Given the description of an element on the screen output the (x, y) to click on. 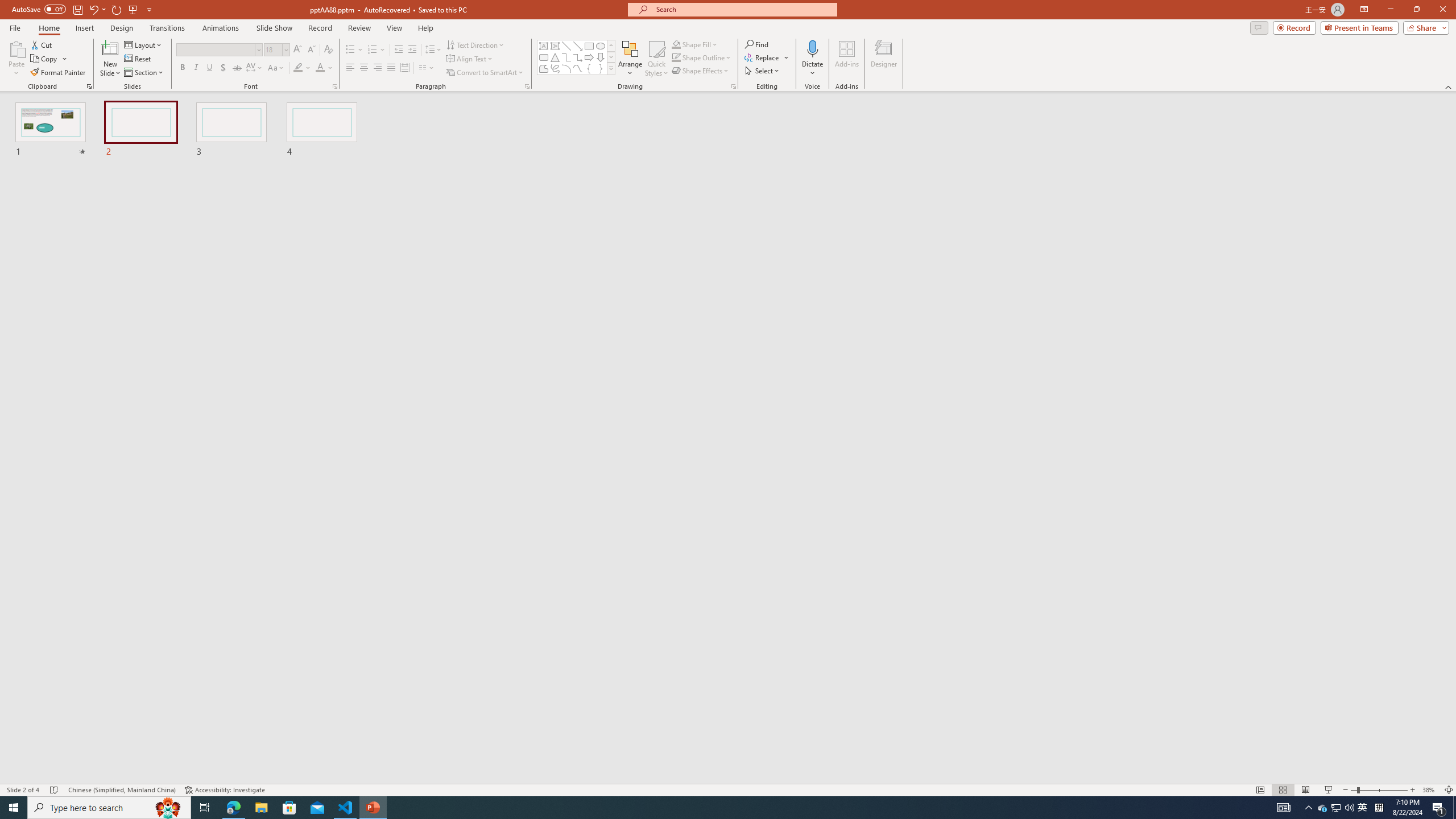
Shape Outline Teal, Accent 1 (675, 56)
